Given the description of an element on the screen output the (x, y) to click on. 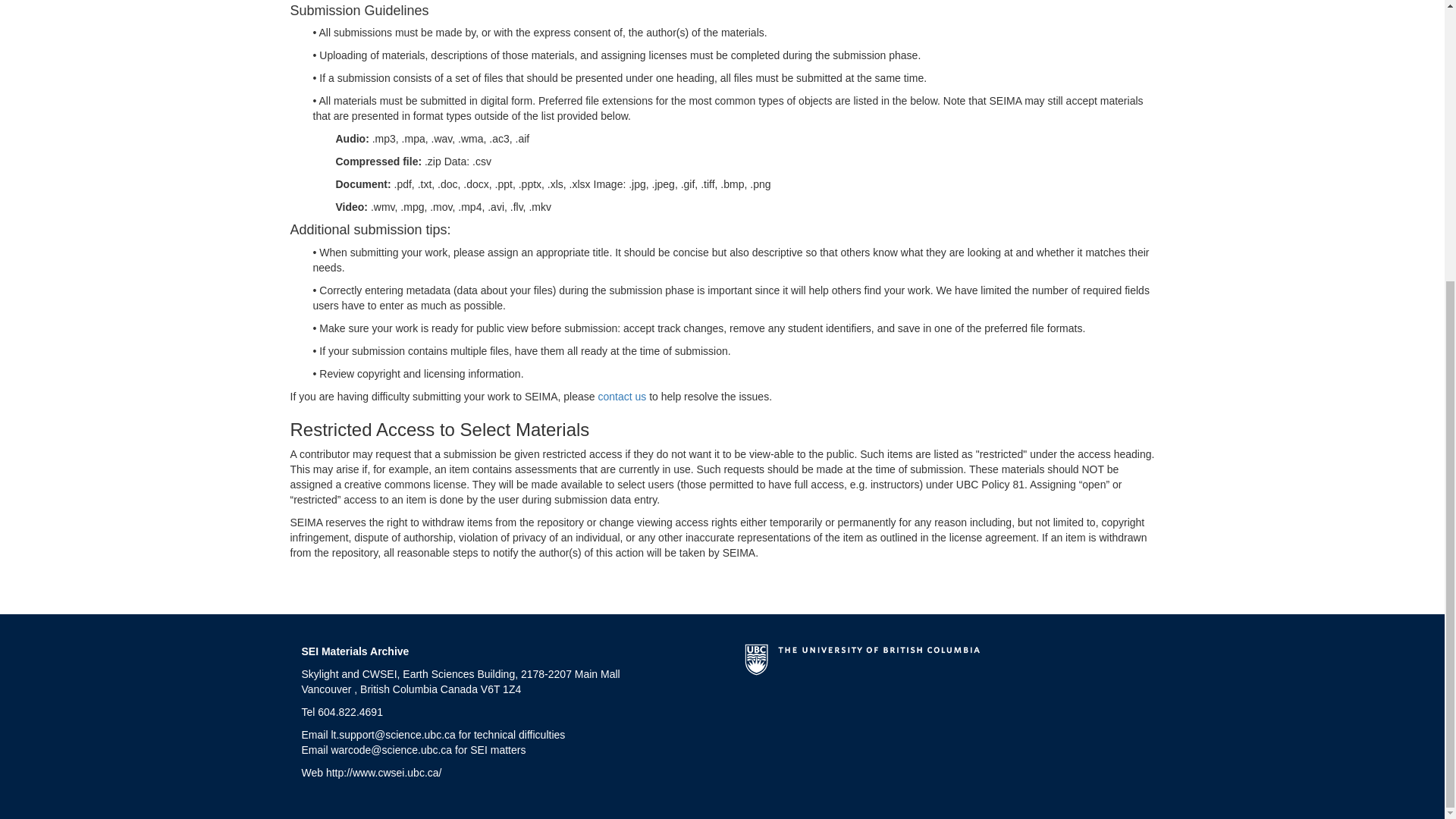
The University of British Columbia (861, 664)
contact us (621, 396)
